Given the description of an element on the screen output the (x, y) to click on. 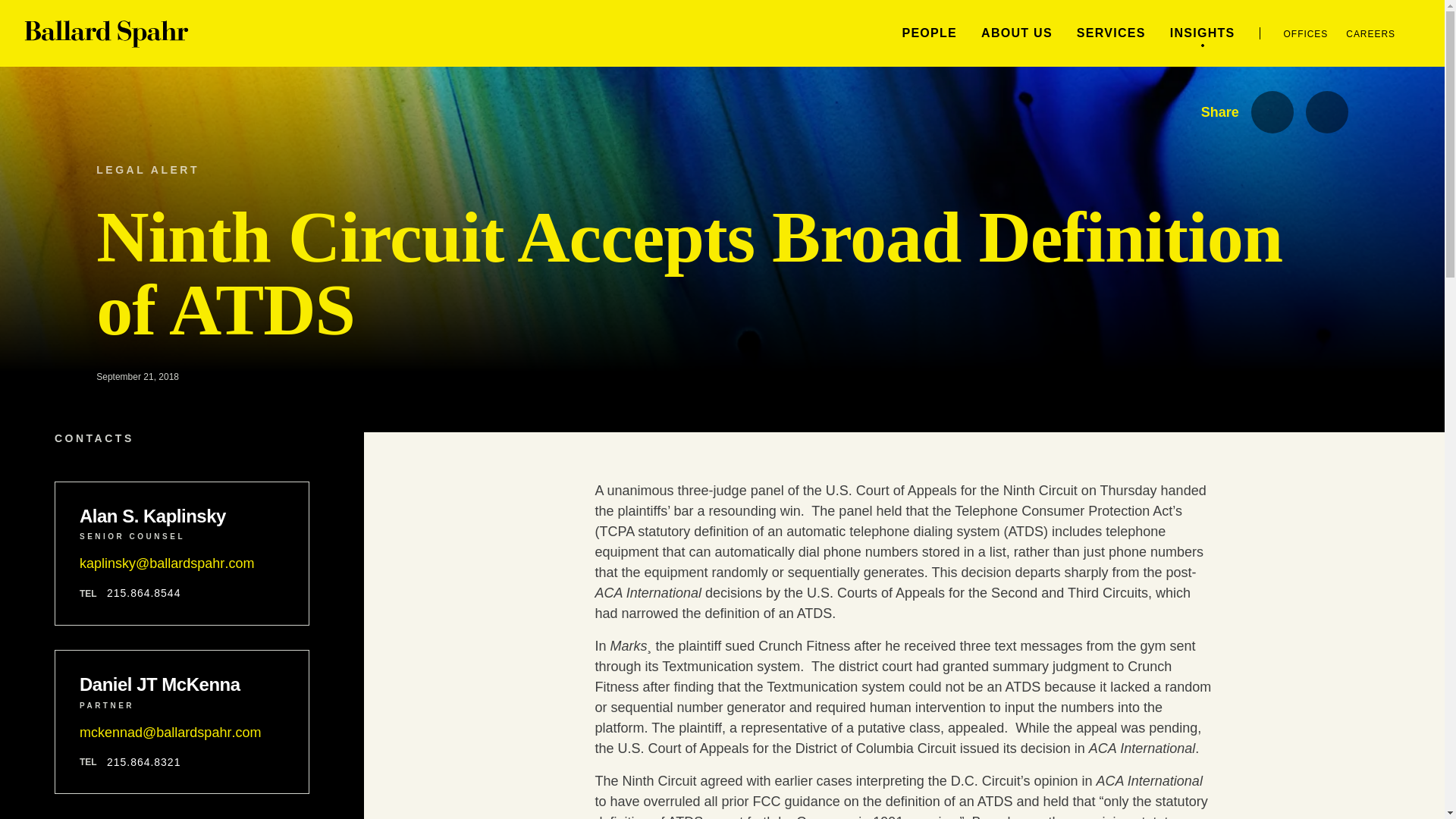
CAREERS (1369, 33)
INSIGHTS (1202, 32)
Daniel JT McKenna (181, 684)
PEOPLE (928, 32)
ABOUT US (1016, 32)
SERVICES (1111, 32)
Alan S. Kaplinsky (181, 516)
215.864.8321 (143, 762)
OFFICES (1305, 33)
215.864.8544 (143, 593)
